Given the description of an element on the screen output the (x, y) to click on. 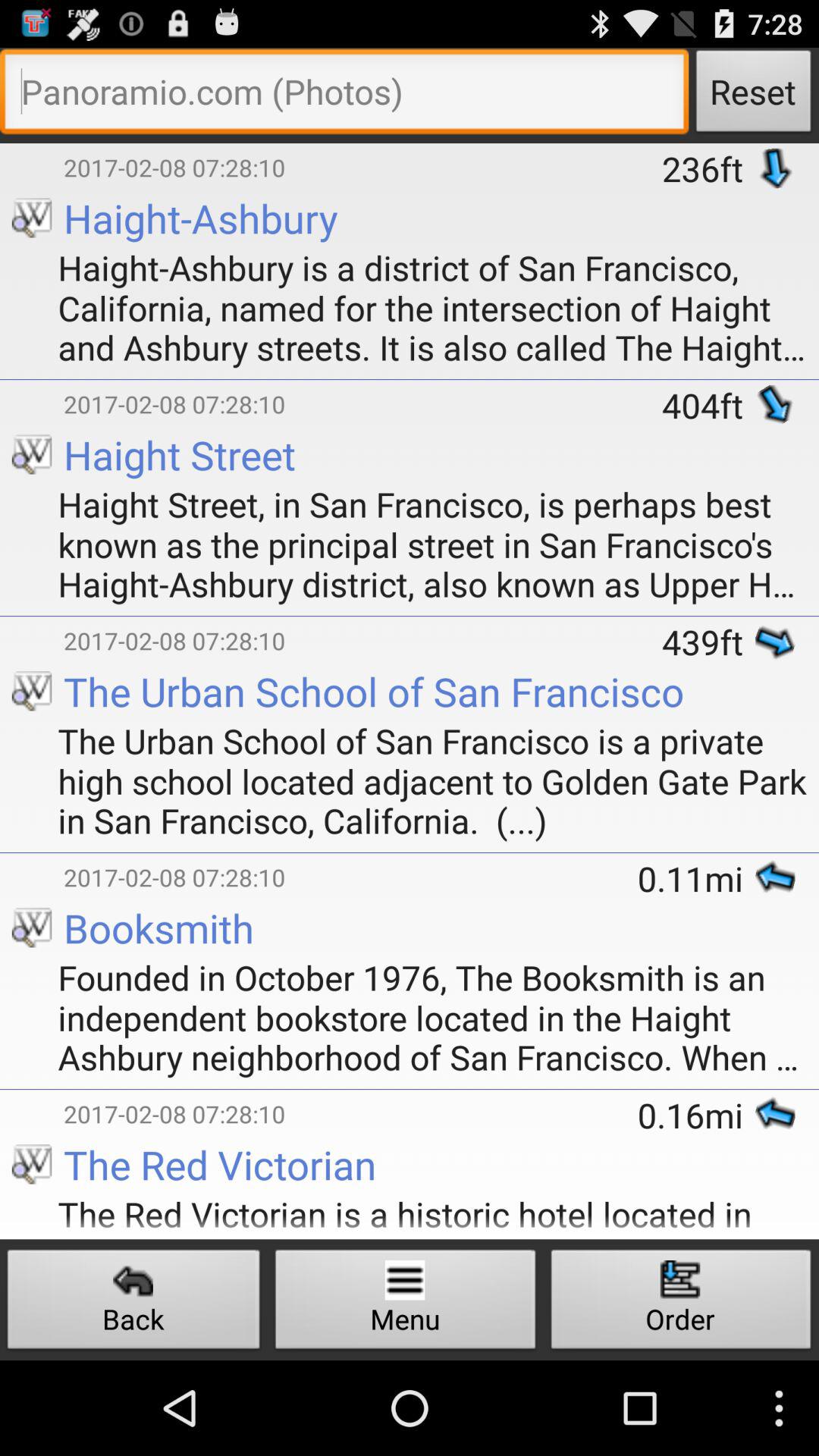
toggle the search option (344, 95)
